Given the description of an element on the screen output the (x, y) to click on. 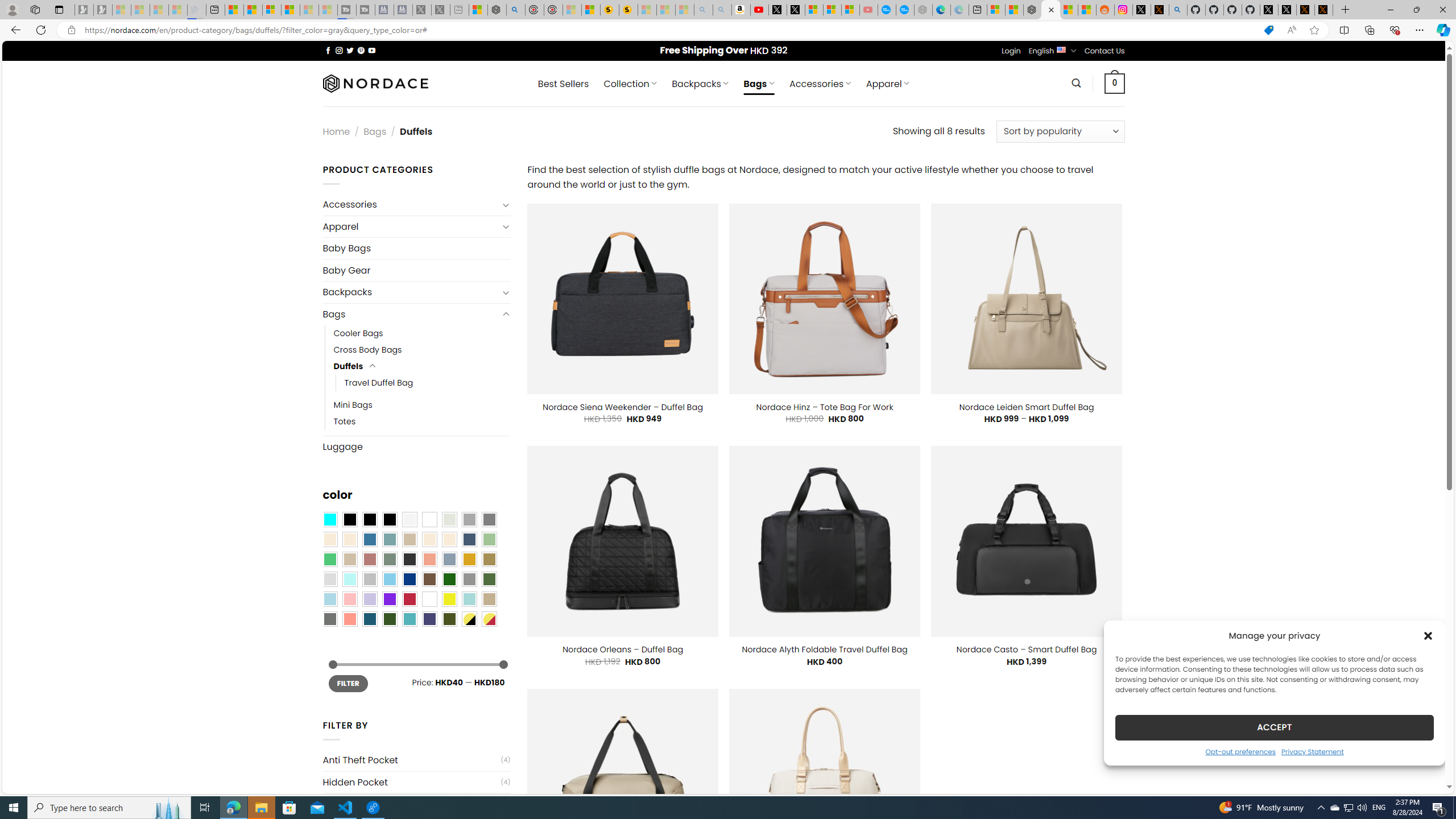
Nordace Leiden Smart Duffel Bag (1026, 406)
Opinion: Op-Ed and Commentary - USA TODAY (887, 9)
Opt-out preferences (1240, 750)
Sage (389, 559)
Cream (449, 539)
 Best Sellers (563, 83)
amazon - Search - Sleeping (702, 9)
Class: cmplz-close (1428, 635)
Mini Bags (422, 404)
